Given the description of an element on the screen output the (x, y) to click on. 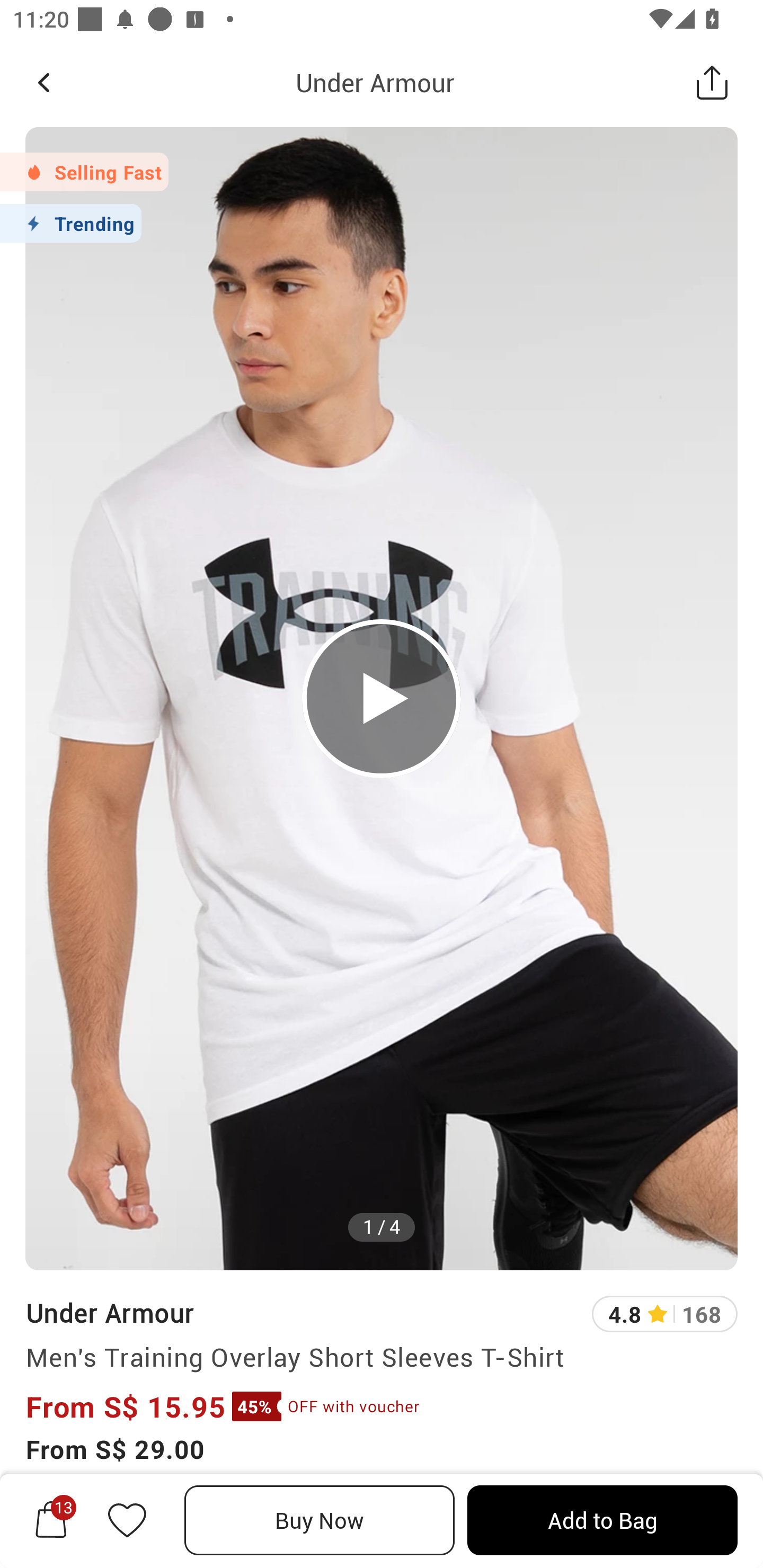
Under Armour (375, 82)
Share this Product (711, 82)
Under Armour (109, 1312)
4.8 168 (664, 1313)
Buy Now (319, 1519)
Add to Bag (601, 1519)
13 (50, 1520)
